Given the description of an element on the screen output the (x, y) to click on. 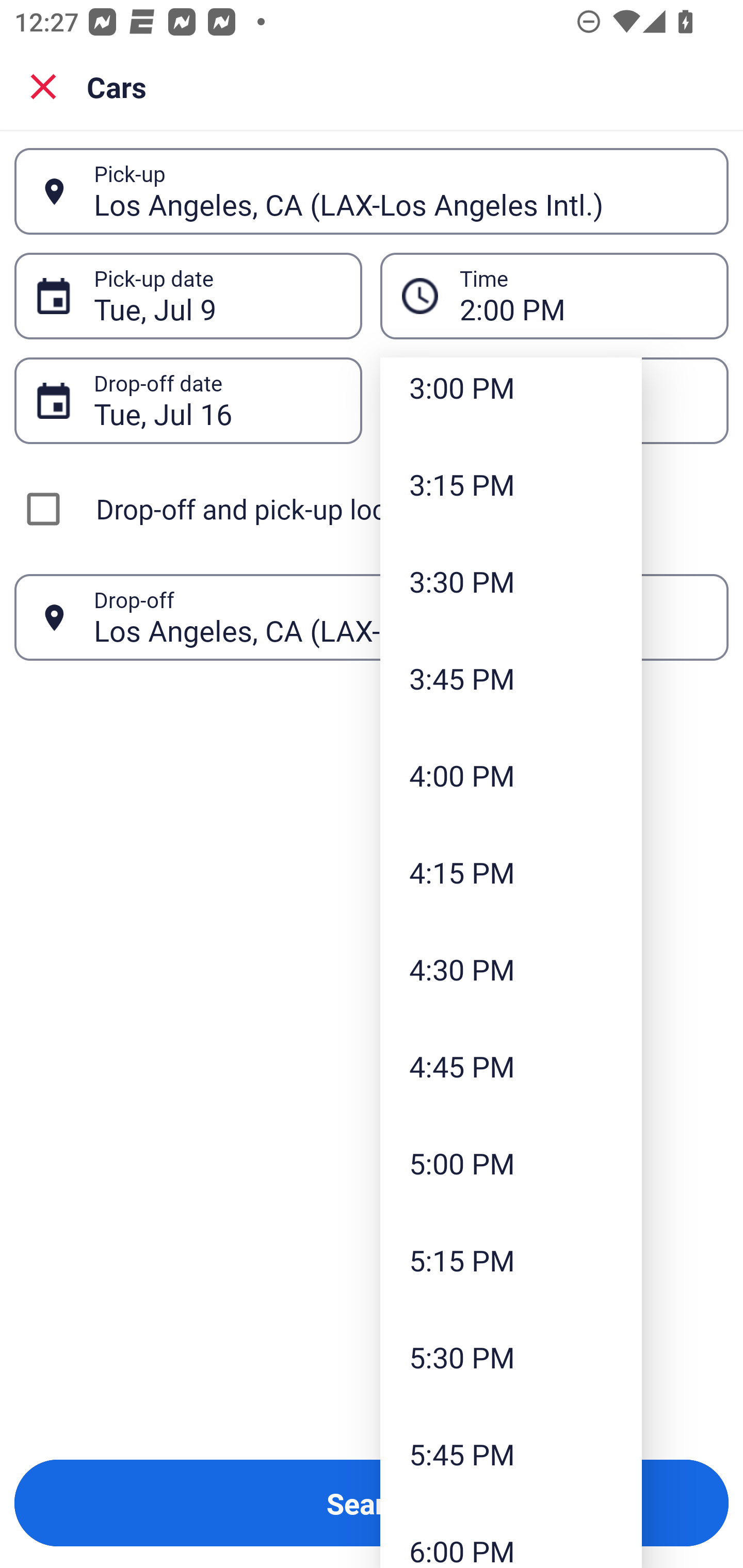
3:00 PM (510, 396)
3:15 PM (510, 484)
3:30 PM (510, 581)
3:45 PM (510, 677)
4:00 PM (510, 774)
4:15 PM (510, 871)
4:30 PM (510, 968)
4:45 PM (510, 1065)
5:00 PM (510, 1163)
5:15 PM (510, 1260)
5:30 PM (510, 1356)
5:45 PM (510, 1453)
6:00 PM (510, 1535)
